Given the description of an element on the screen output the (x, y) to click on. 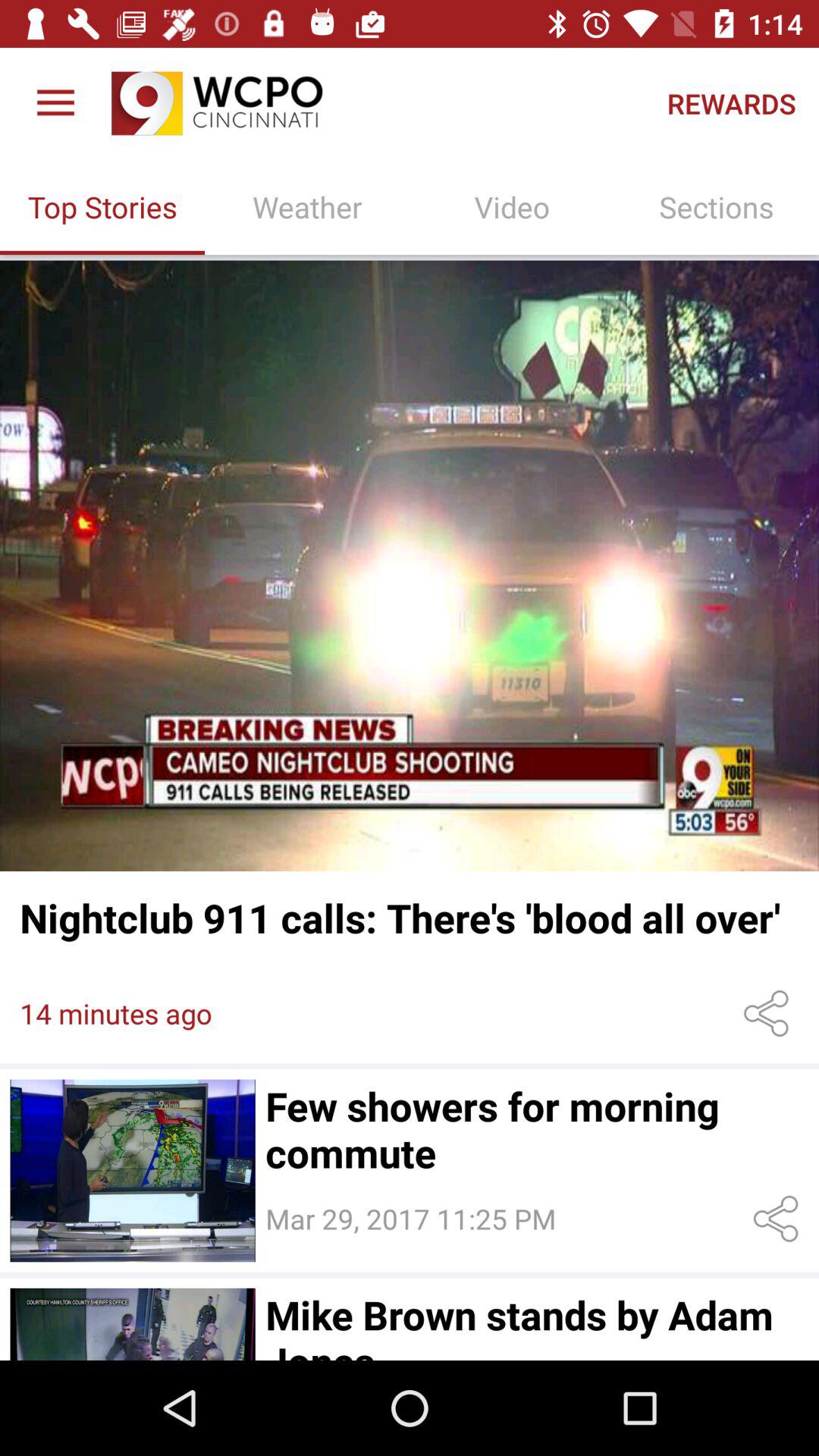
picture zoom (409, 565)
